Given the description of an element on the screen output the (x, y) to click on. 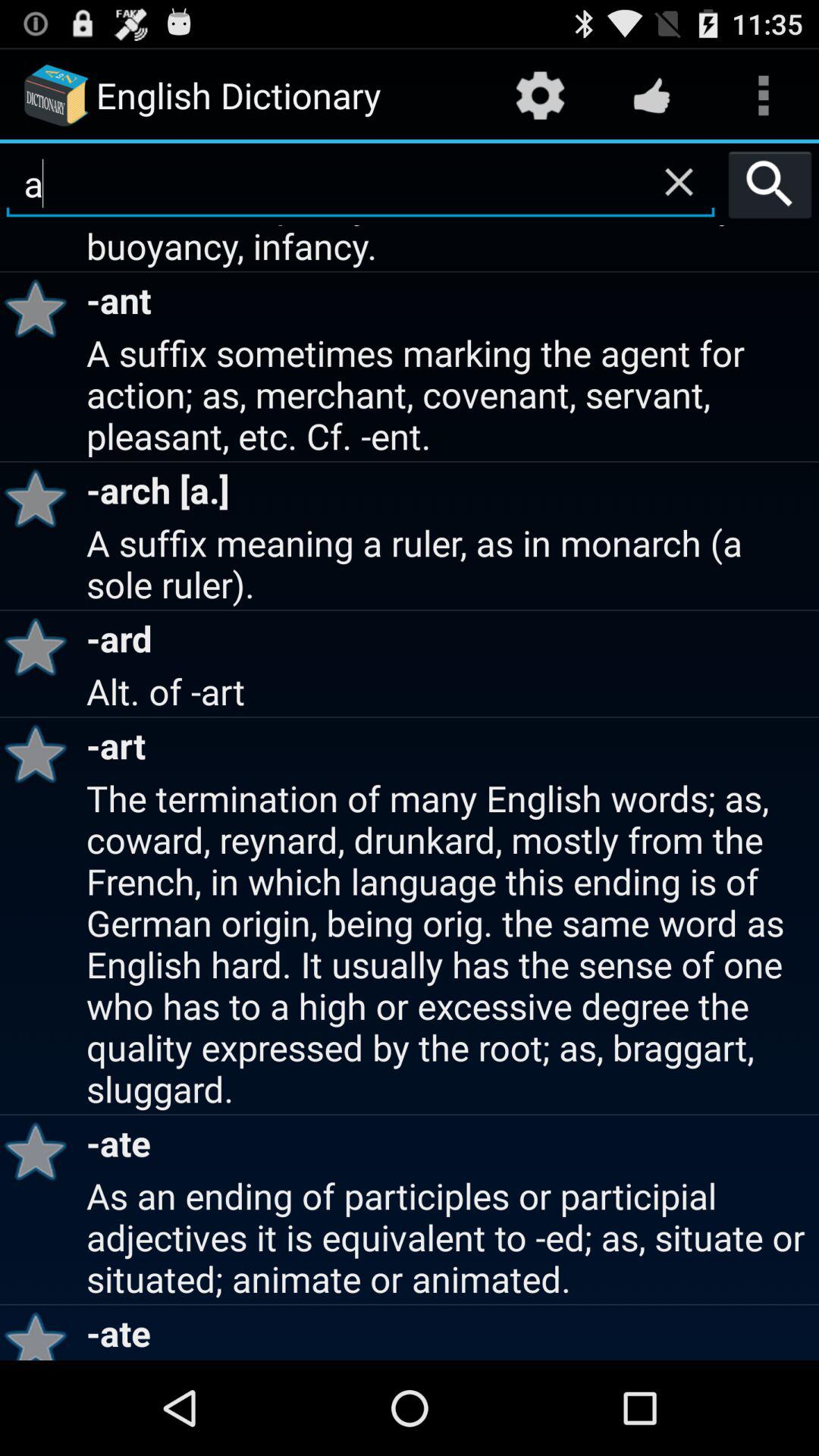
click on the three dotted icon at the top right of the page (763, 95)
